Given the description of an element on the screen output the (x, y) to click on. 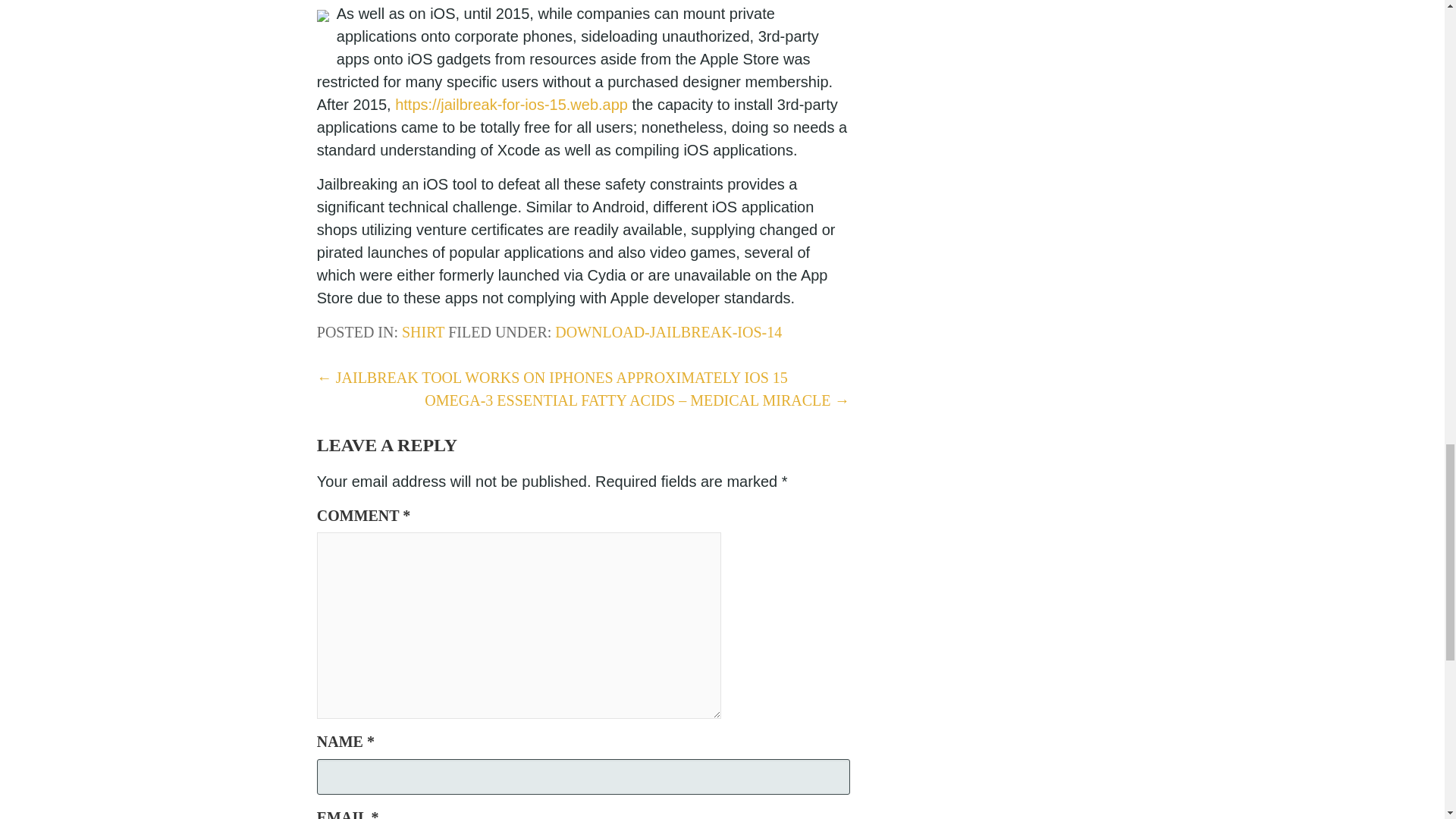
SHIRT (422, 331)
DOWNLOAD-JAILBREAK-IOS-14 (667, 331)
